Given the description of an element on the screen output the (x, y) to click on. 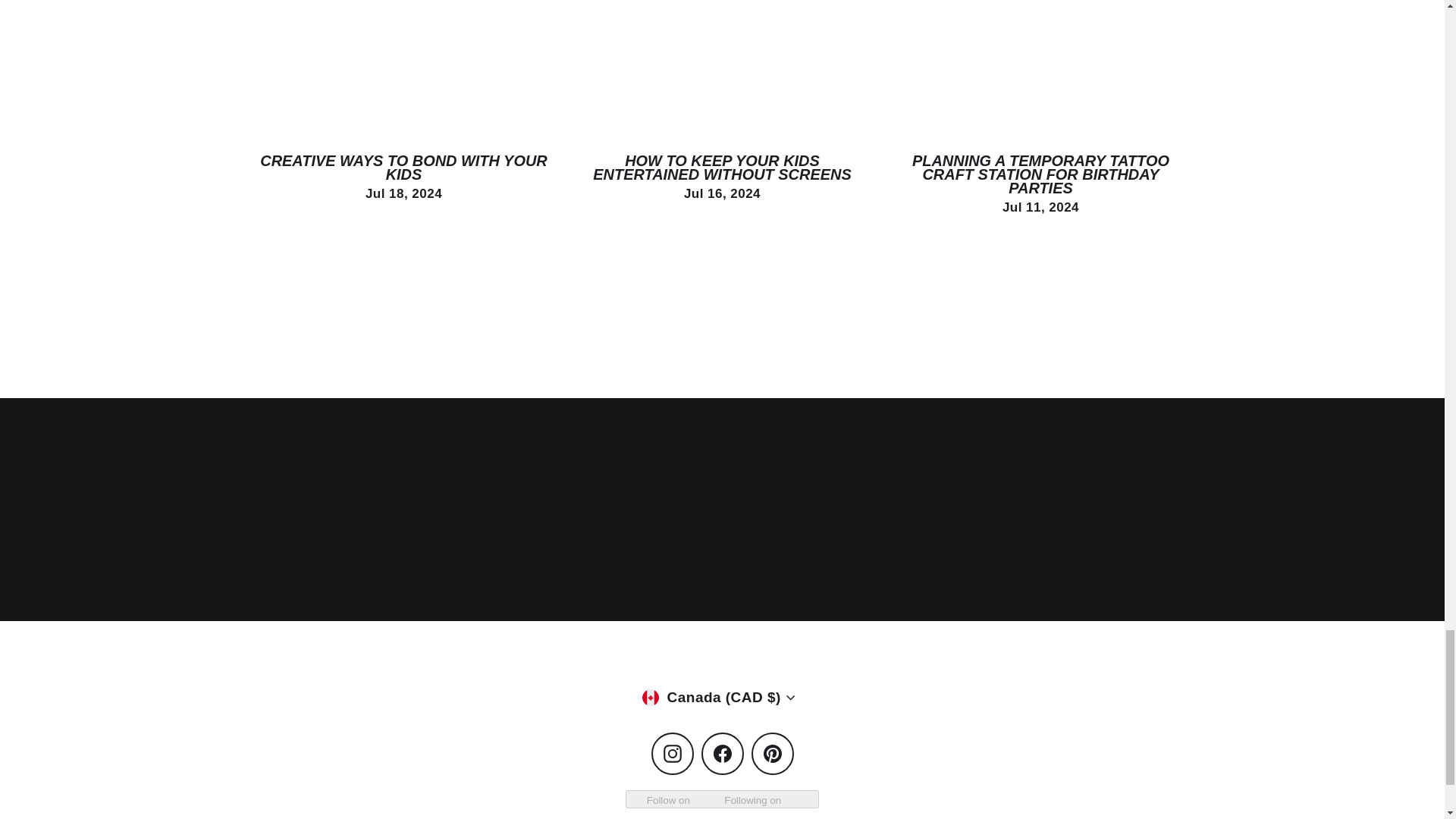
Tony Ray on Facebook (721, 753)
Tony Ray on Instagram (671, 753)
Tony Ray on Pinterest (772, 753)
instagram (671, 753)
